Given the description of an element on the screen output the (x, y) to click on. 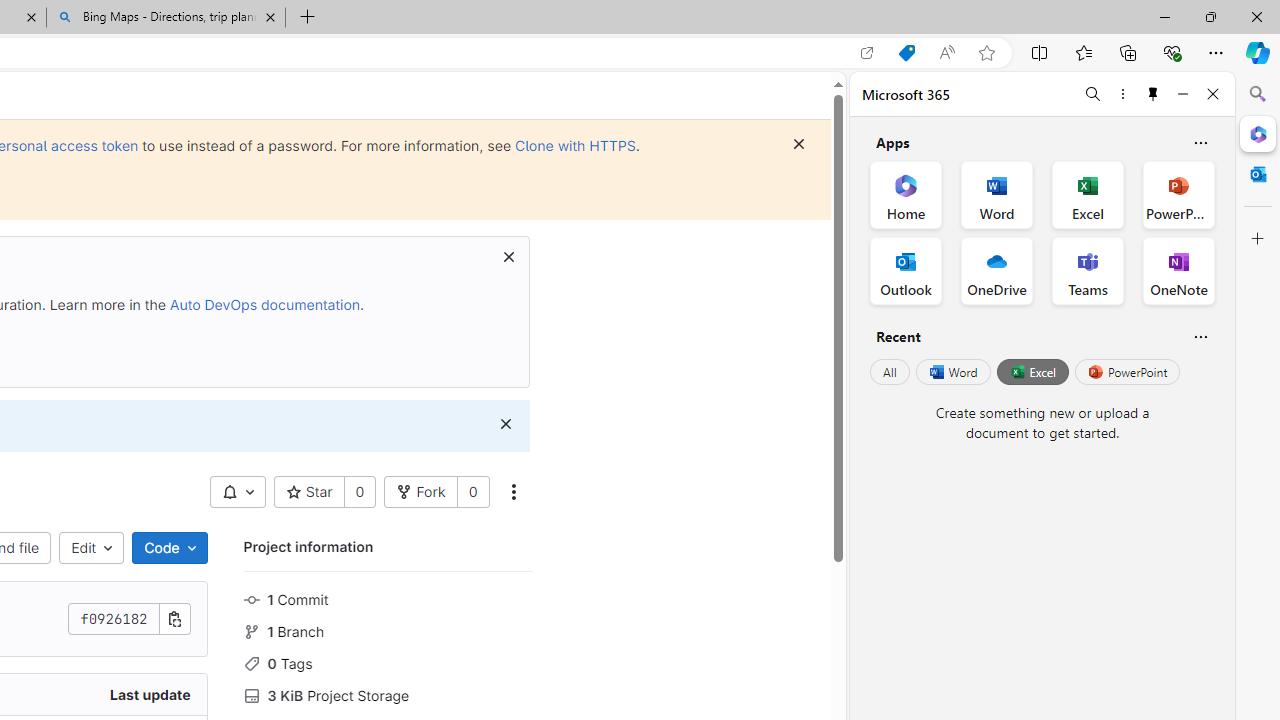
Word Office App (996, 194)
Open in app (867, 53)
Close tab (270, 16)
Home Office App (906, 194)
Outlook Office App (906, 270)
Fork (421, 491)
Teams Office App (1087, 270)
0 (472, 491)
0 Tags (387, 662)
Word (952, 372)
Class: s16 gl-icon gl-button-icon  (505, 424)
New Tab (308, 17)
Clone with HTTPS (575, 145)
Search (1258, 94)
